Given the description of an element on the screen output the (x, y) to click on. 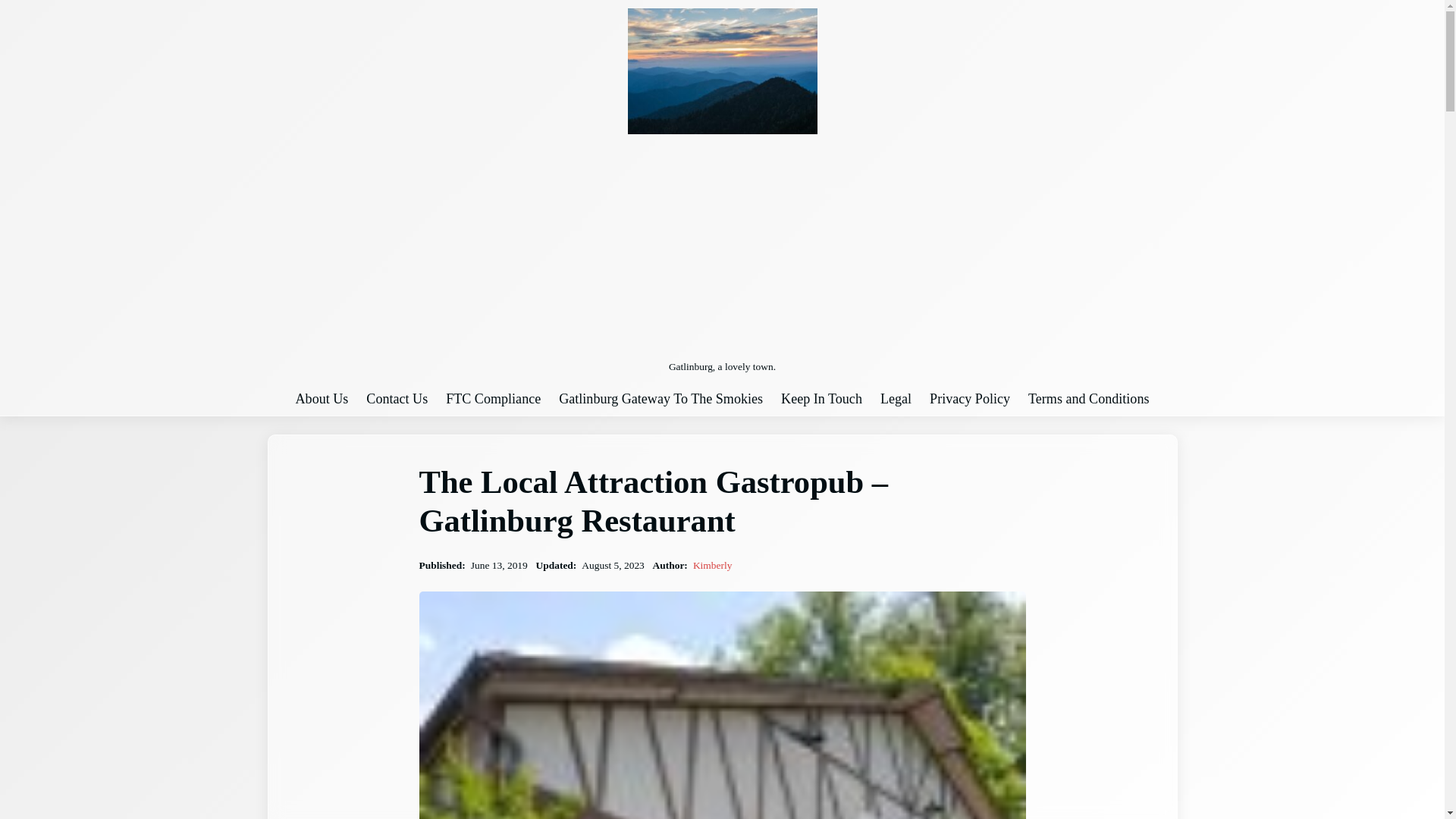
Kimberly (712, 564)
Legal (895, 399)
Contact Us (397, 399)
FTC Compliance (492, 399)
Terms and Conditions (1087, 399)
About Us (322, 399)
Gatlinburg Gateway To The Smokies (660, 399)
Keep In Touch (820, 399)
Privacy Policy (970, 399)
